Given the description of an element on the screen output the (x, y) to click on. 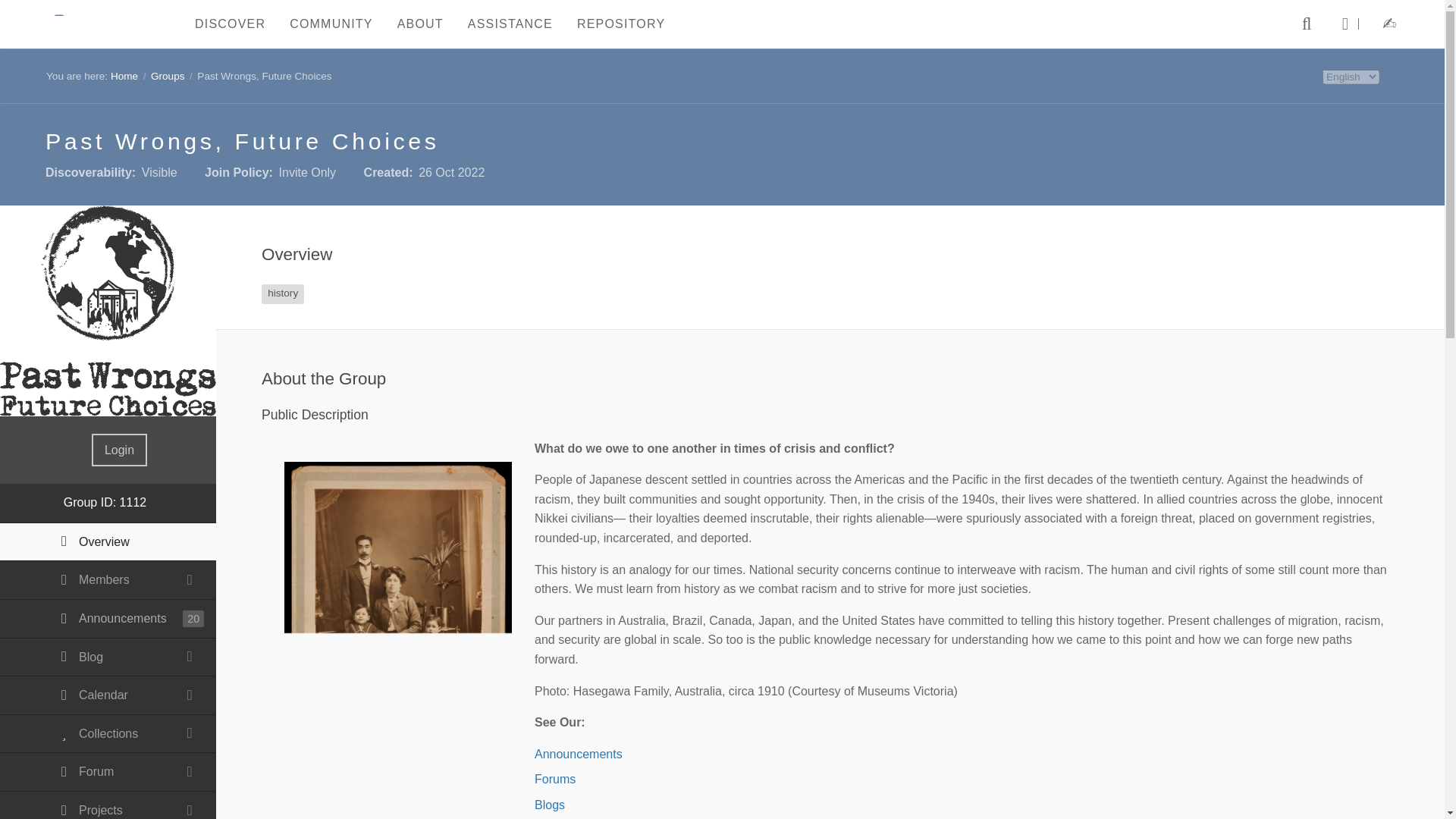
Past Wrongs, Future Choices Home (107, 310)
Canadian HSS Commons (102, 22)
Announcements (107, 618)
Past Wrongs, Future Choices's Overview Page (107, 542)
DISCOVER (230, 24)
ASSISTANCE (509, 24)
This page is restricted to group members only! (107, 580)
ABOUT (420, 24)
This page is restricted to group members only! (107, 771)
This page is restricted to group members only! (107, 657)
This page is restricted to group members only! (107, 695)
Login (119, 450)
Past Wrongs, Future Choices's Announcements Page (107, 618)
REPOSITORY (620, 24)
Groups (167, 76)
